Given the description of an element on the screen output the (x, y) to click on. 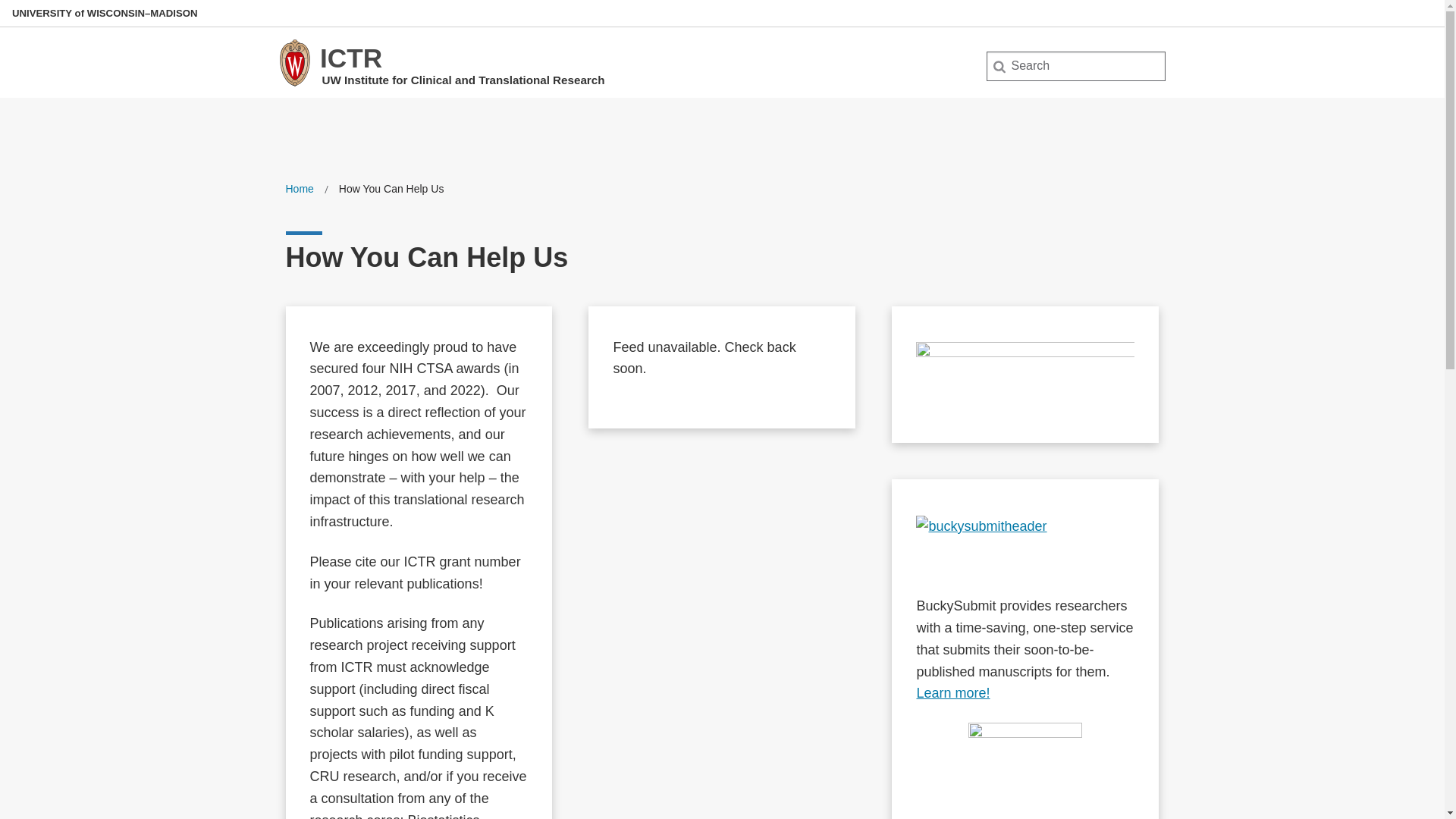
Home (299, 188)
ICTR (350, 57)
Skip to main content (3, 3)
How You Can Help Us (391, 188)
Search (37, 16)
